Given the description of an element on the screen output the (x, y) to click on. 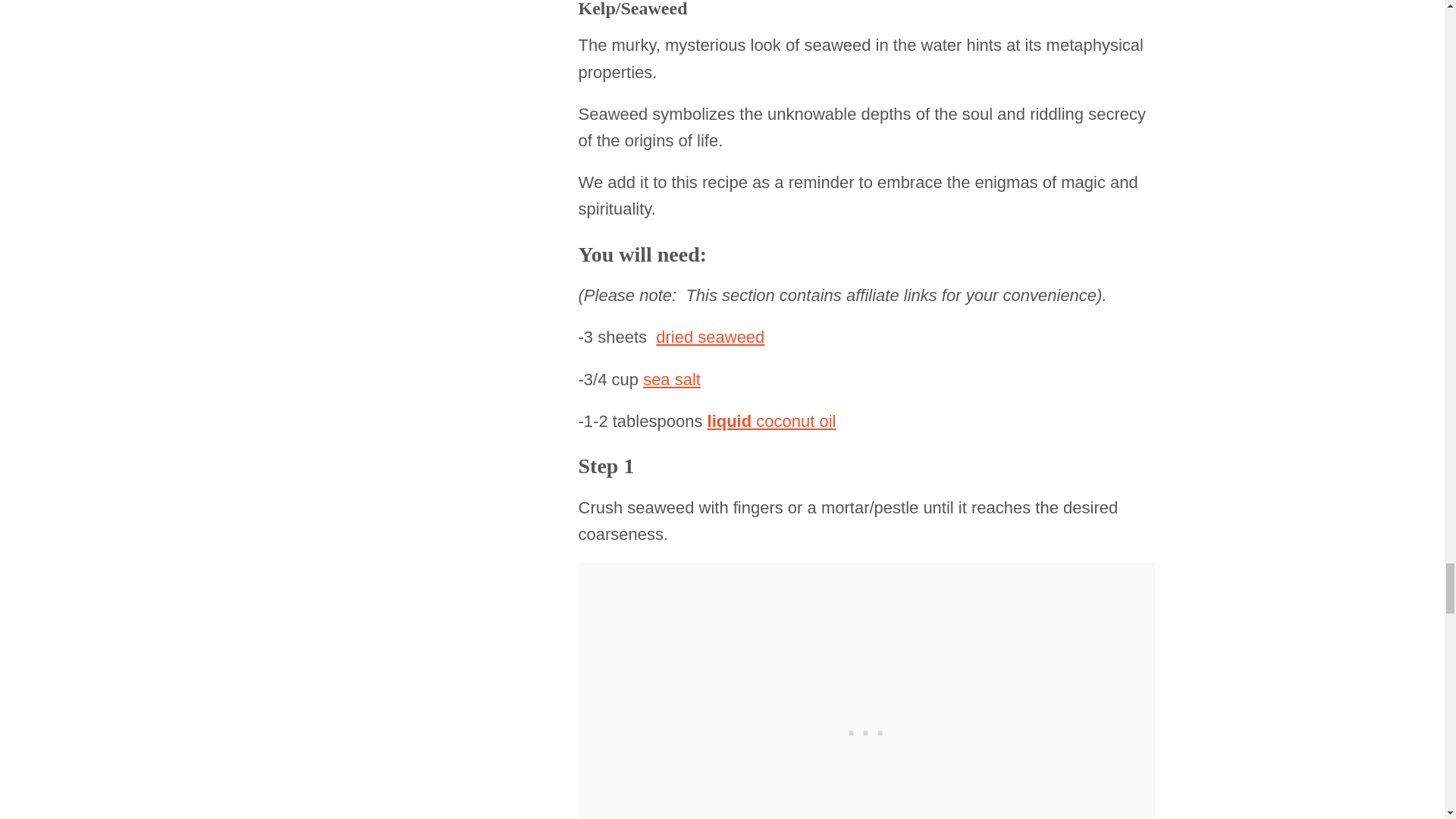
dried seaweed (710, 336)
sea salt (671, 379)
